Given the description of an element on the screen output the (x, y) to click on. 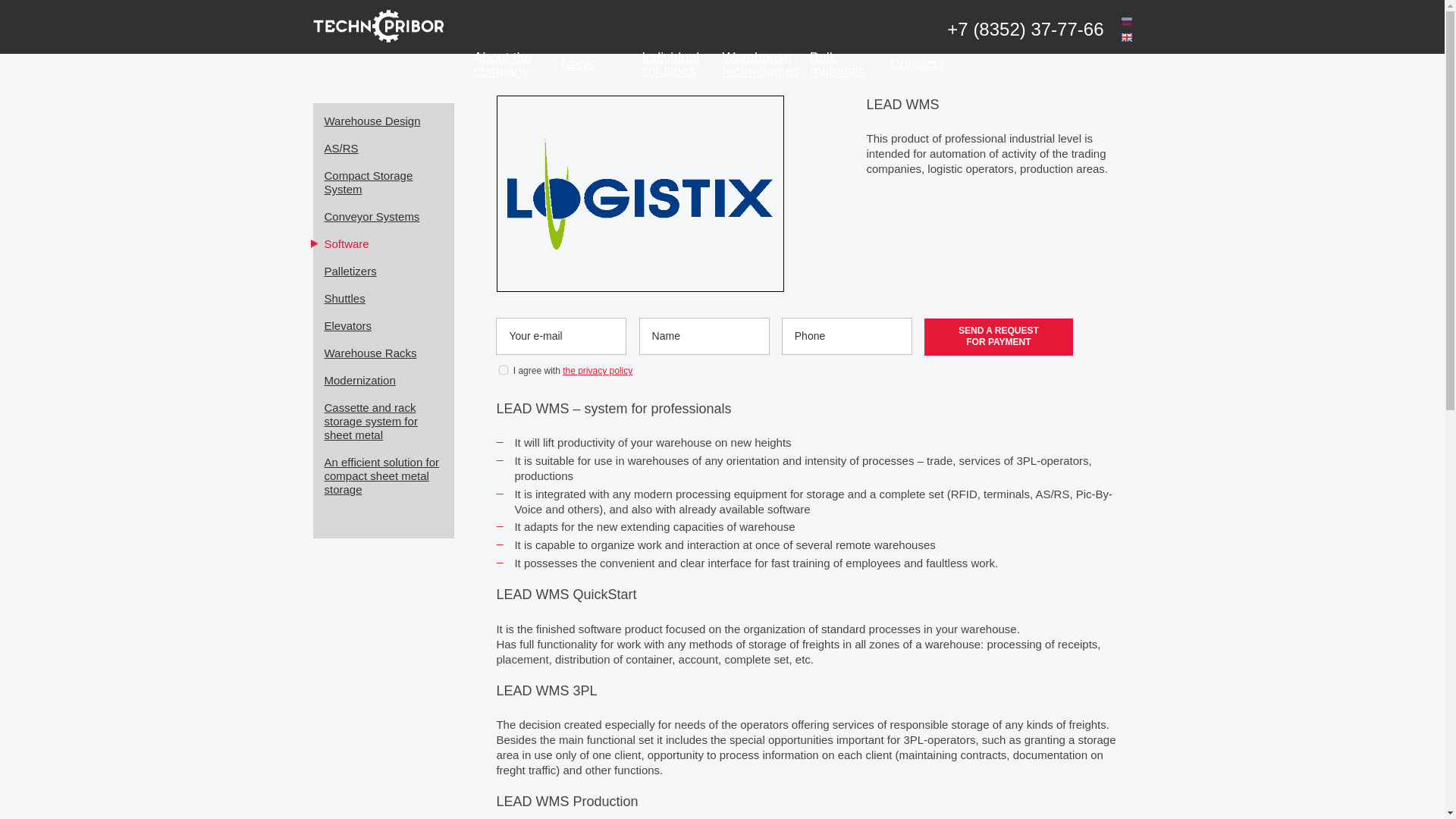
About the company (511, 63)
Elevators (384, 325)
News (595, 64)
Contacts (924, 64)
An efficient solution for compact sheet metal storage (384, 475)
Cassette and rack storage system for sheet metal (384, 421)
Modernization (384, 380)
Palletizers (844, 63)
on (676, 63)
Warehouse Racks (384, 271)
the privacy policy (503, 369)
Compact Storage System (384, 353)
